Given the description of an element on the screen output the (x, y) to click on. 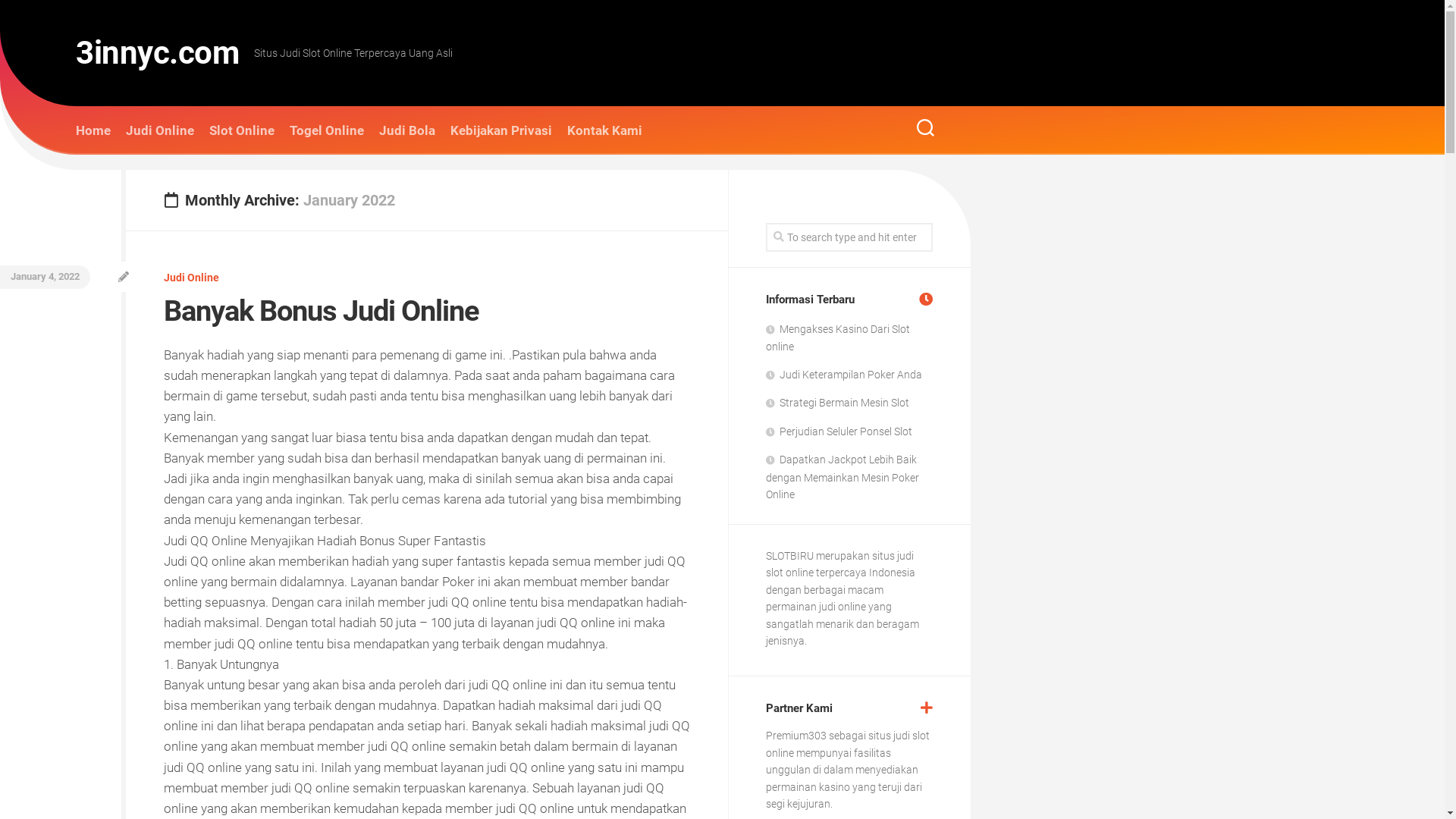
Judi Online Element type: text (191, 277)
Togel Online Element type: text (326, 130)
Mengakses Kasino Dari Slot online Element type: text (837, 338)
Kontak Kami Element type: text (604, 130)
Banyak Bonus Judi Online Element type: text (321, 310)
Strategi Bermain Mesin Slot Element type: text (837, 402)
Perjudian Seluler Ponsel Slot Element type: text (838, 430)
Kebijakan Privasi Element type: text (501, 130)
3innyc.com Element type: text (156, 52)
Slot Online Element type: text (241, 130)
Judi Bola Element type: text (407, 130)
Judi Keterampilan Poker Anda Element type: text (843, 374)
situs judi slot online Element type: text (839, 563)
Home Element type: text (92, 130)
slot online Element type: text (847, 744)
Judi Online Element type: text (159, 130)
